Given the description of an element on the screen output the (x, y) to click on. 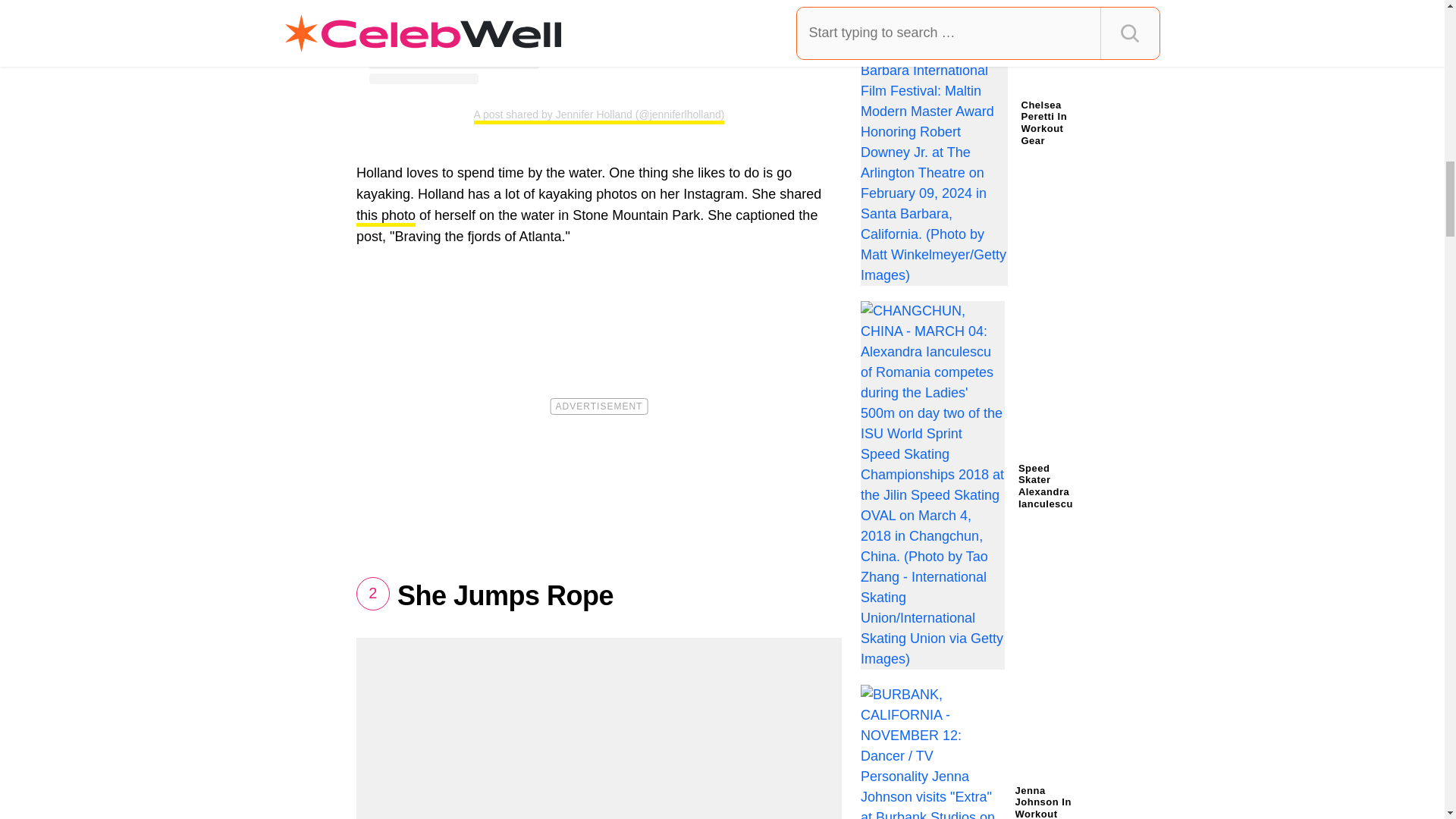
this photo (385, 217)
View this post on Instagram (598, 41)
